Given the description of an element on the screen output the (x, y) to click on. 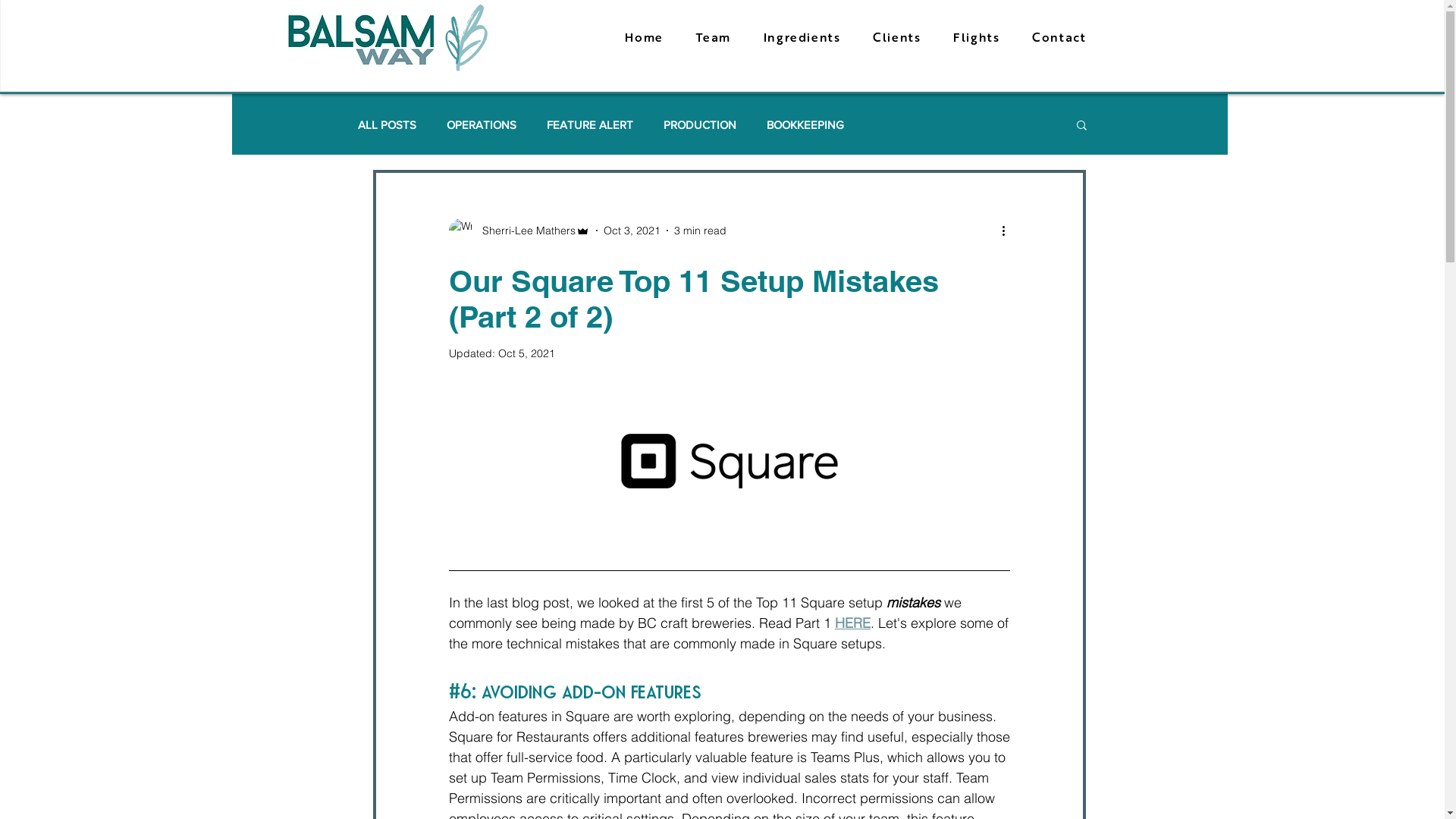
FEATURE ALERT Element type: text (589, 124)
Team Element type: text (712, 39)
OPERATIONS Element type: text (481, 124)
BOOKKEEPING Element type: text (805, 124)
Clients Element type: text (895, 39)
Ingredients Element type: text (800, 39)
Contact Element type: text (1057, 39)
ALL POSTS Element type: text (386, 124)
Flights Element type: text (975, 39)
Home Element type: text (643, 39)
PRODUCTION Element type: text (699, 124)
HERE Element type: text (852, 622)
